Given the description of an element on the screen output the (x, y) to click on. 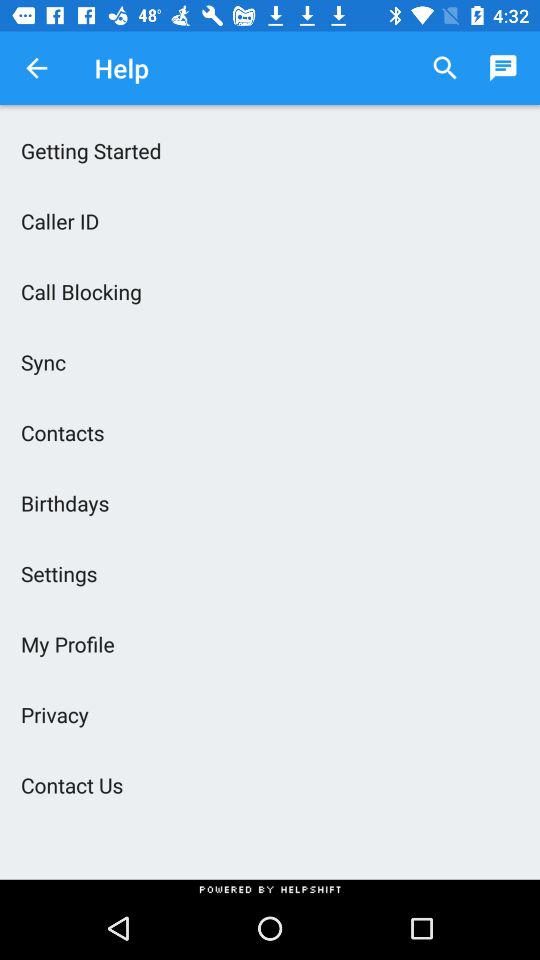
click the icon above my profile item (270, 573)
